Given the description of an element on the screen output the (x, y) to click on. 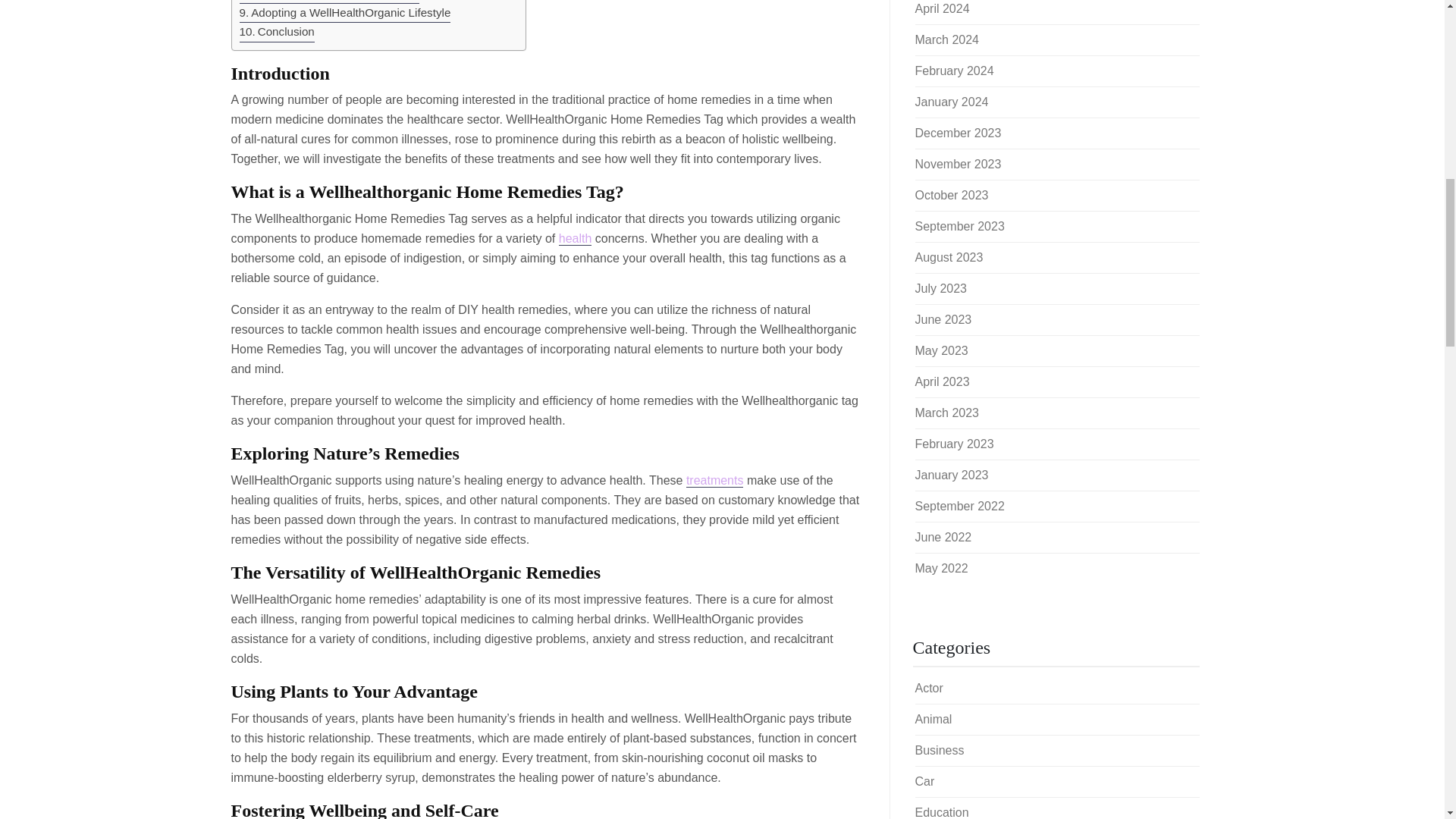
treatments (714, 480)
Conclusion (277, 31)
Adopting a WellHealthOrganic Lifestyle (345, 13)
Bridging Tradition and Innovation (330, 2)
Adopting a WellHealthOrganic Lifestyle (345, 13)
health (575, 238)
Conclusion (277, 31)
Bridging Tradition and Innovation (330, 2)
